Given the description of an element on the screen output the (x, y) to click on. 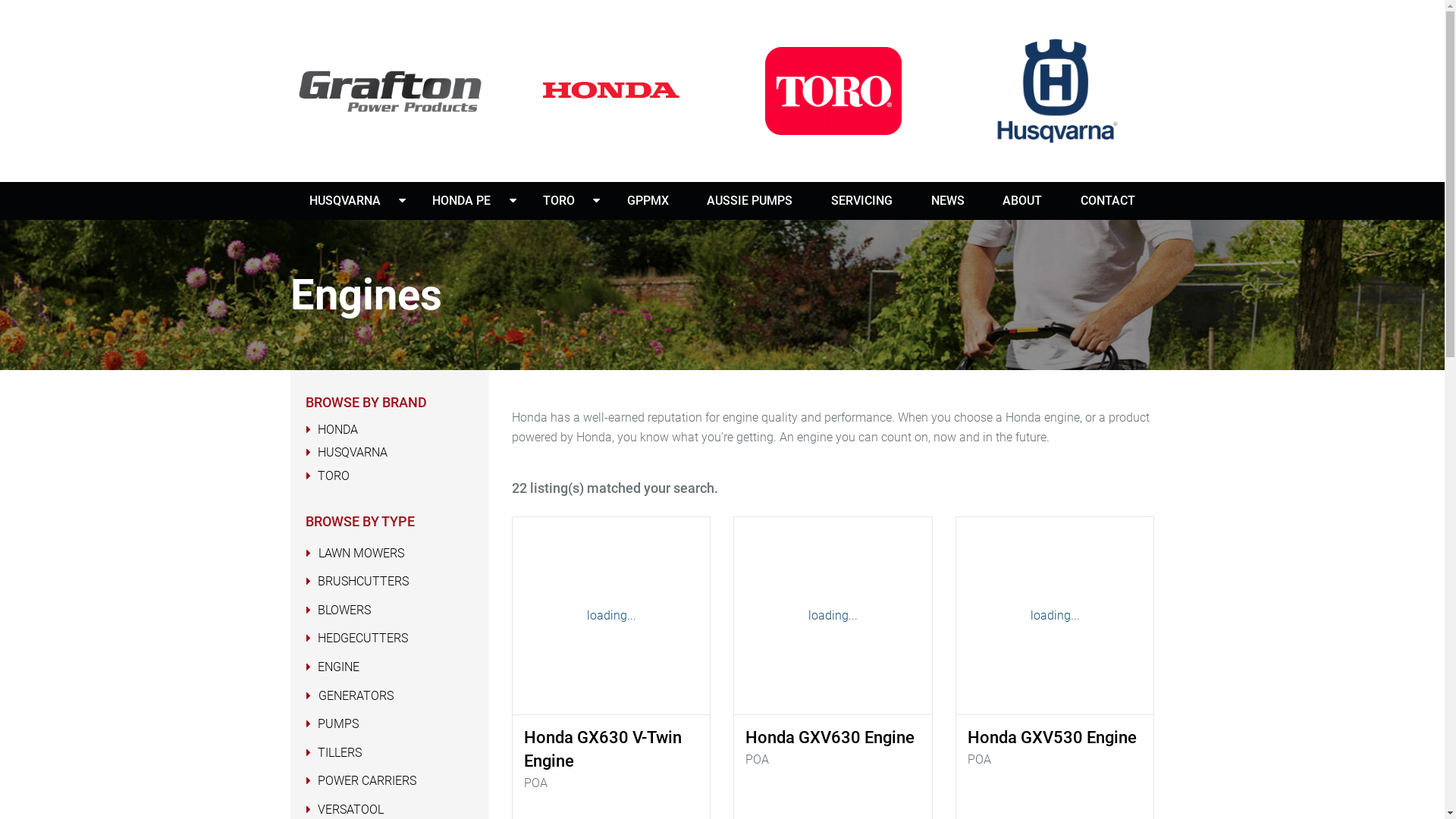
ENGINE Element type: text (337, 666)
AUSSIE PUMPS Element type: text (749, 200)
HUSQVARNA Element type: text (344, 200)
VERSATOOL Element type: text (349, 809)
HEDGECUTTERS Element type: text (361, 637)
BRUSHCUTTERS Element type: text (361, 581)
HONDA Element type: text (336, 429)
TILLERS Element type: text (338, 752)
HONDA PE Element type: text (461, 200)
NEWS Element type: text (947, 200)
POWER CARRIERS Element type: text (365, 780)
GPPMX Element type: text (647, 200)
TORO Element type: text (559, 200)
HUSQVARNA Element type: text (351, 452)
GENERATORS Element type: text (355, 695)
ABOUT Element type: text (1021, 200)
PUMPS Element type: text (336, 723)
SERVICING Element type: text (861, 200)
CONTACT Element type: text (1107, 200)
TORO Element type: text (332, 475)
BLOWERS Element type: text (343, 609)
LAWN MOWERS Element type: text (361, 553)
